Given the description of an element on the screen output the (x, y) to click on. 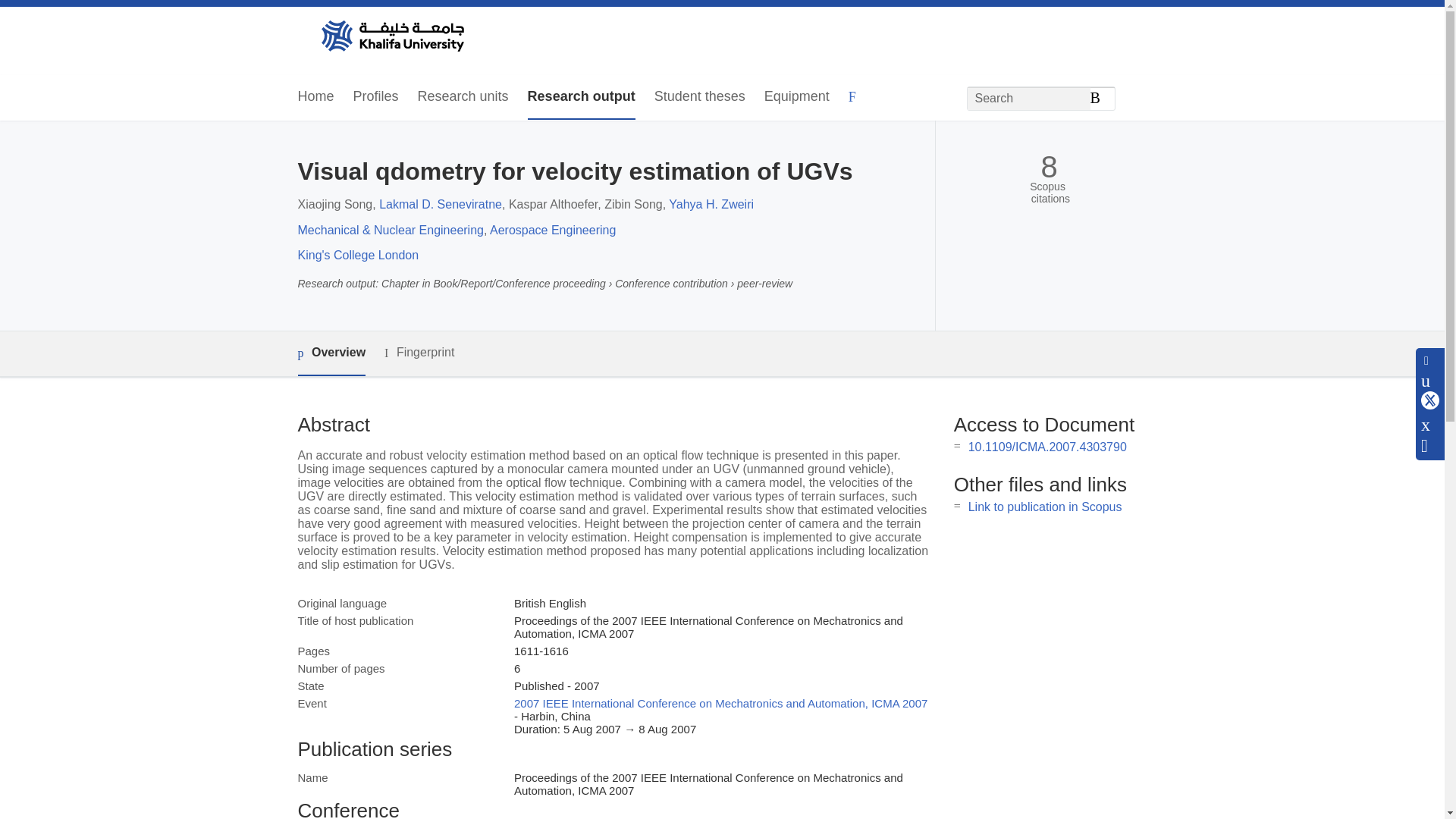
Overview (331, 353)
Khalifa University Home (391, 37)
Equipment (796, 97)
Research units (462, 97)
Link to publication in Scopus (1045, 506)
Profiles (375, 97)
Research output (580, 97)
Fingerprint (419, 352)
